Given the description of an element on the screen output the (x, y) to click on. 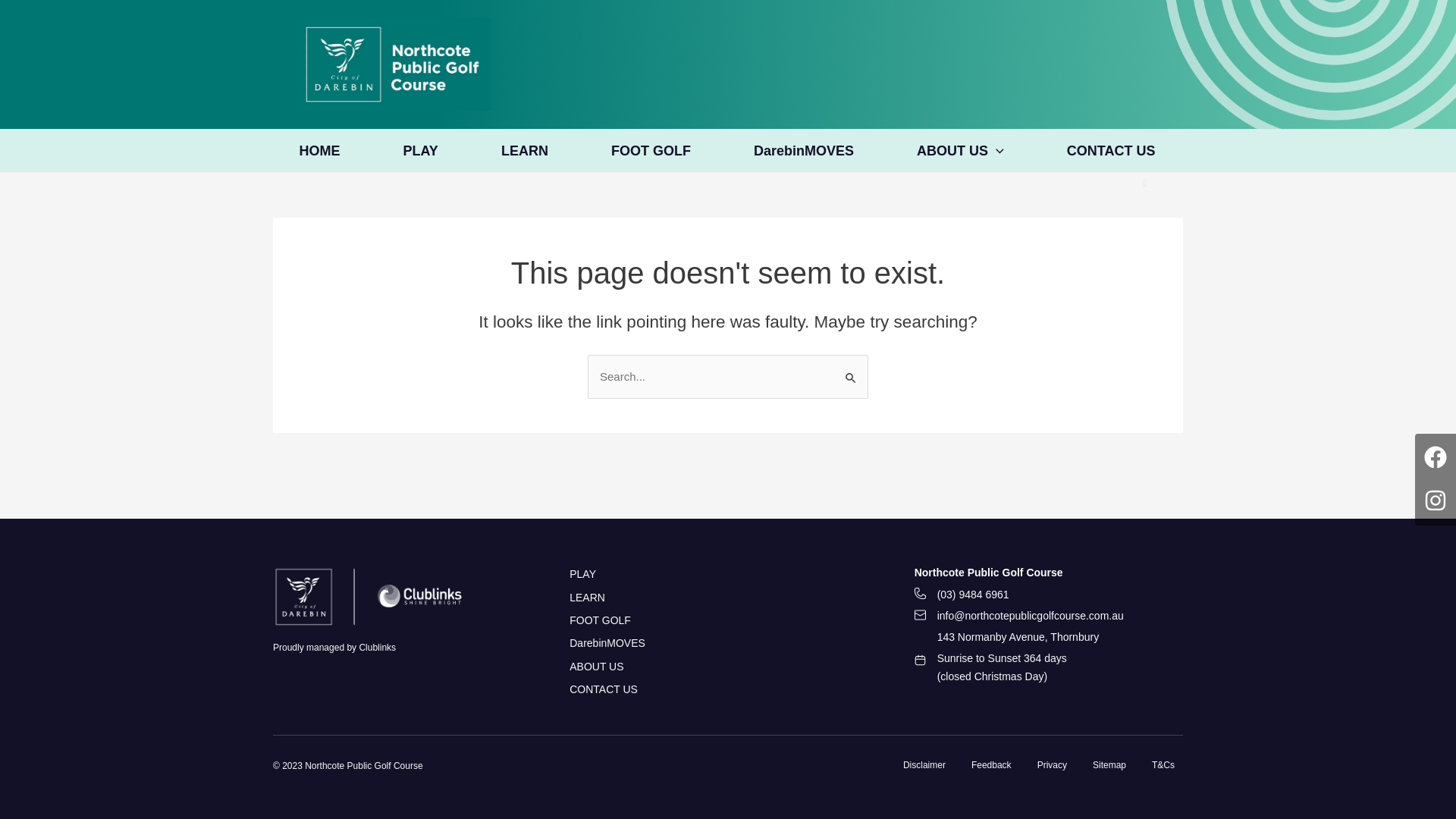
PLAY Element type: text (582, 573)
ABOUT US Element type: text (596, 666)
Sitemap Element type: text (1109, 764)
Feedback Element type: text (991, 764)
T&Cs Element type: text (1160, 764)
Sunrise to Sunset 364 days
(closed Christmas Day) Element type: text (990, 667)
Search Element type: text (851, 369)
HOME Element type: text (320, 150)
ABOUT US Element type: text (960, 150)
CONTACT US Element type: text (603, 688)
FOOT GOLF Element type: text (599, 619)
(03) 9484 6961 Element type: text (961, 594)
LEARN Element type: text (525, 150)
Privacy Element type: text (1051, 764)
143 Normanby Avenue, Thornbury Element type: text (1006, 636)
LEARN Element type: text (587, 597)
CONTACT US Element type: text (1111, 150)
DarebinMOVES Element type: text (804, 150)
DarebinMOVES Element type: text (607, 642)
Disclaimer Element type: text (926, 764)
FOOT GOLF Element type: text (651, 150)
info@northcotepublicgolfcourse.com.au Element type: text (1018, 615)
PLAY Element type: text (421, 150)
